Given the description of an element on the screen output the (x, y) to click on. 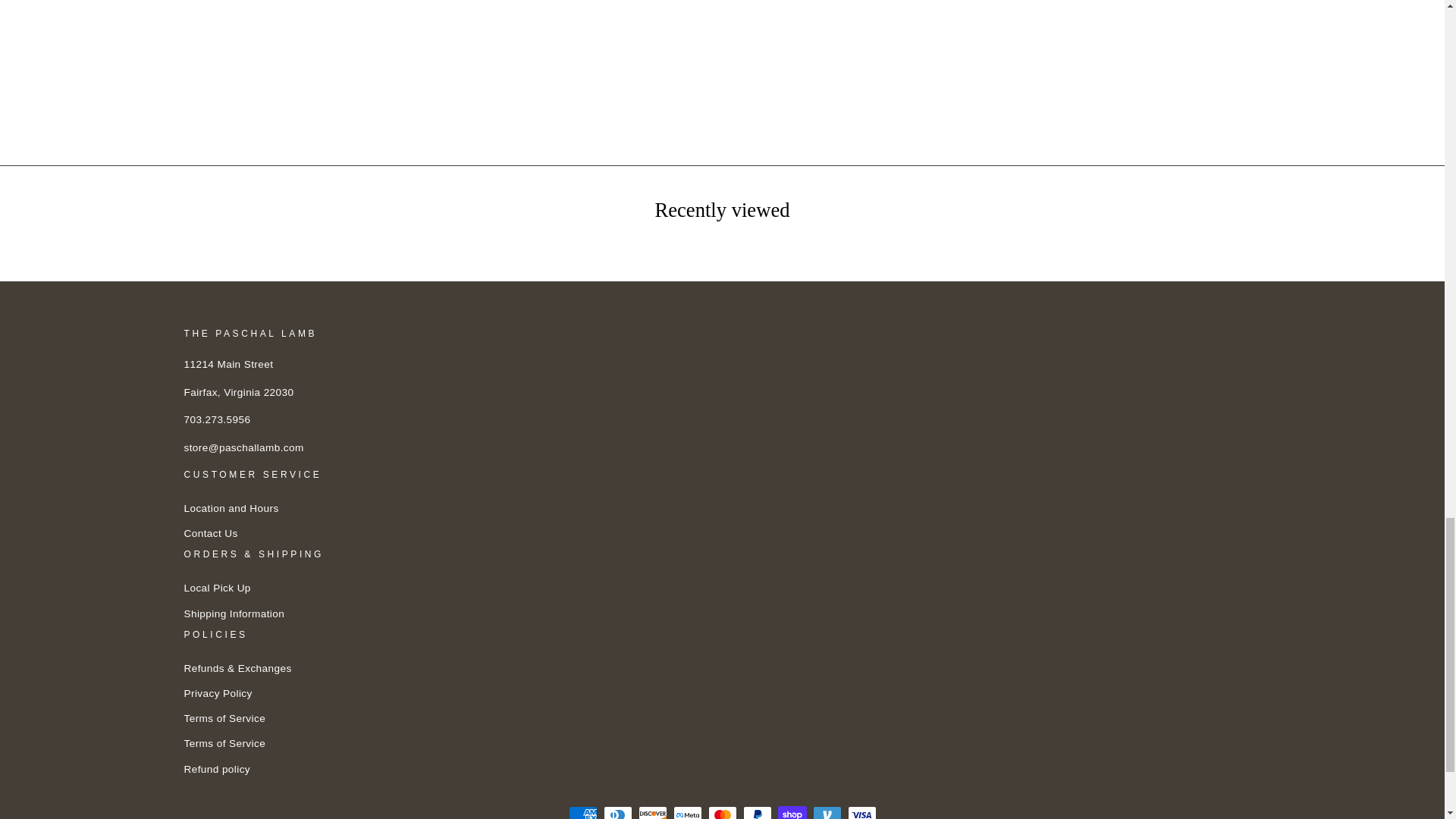
Shop Pay (791, 812)
Discover (652, 812)
PayPal (756, 812)
Diners Club (617, 812)
Meta Pay (686, 812)
Venmo (826, 812)
Visa (861, 812)
Location and Hours (230, 508)
Mastercard (721, 812)
American Express (582, 812)
Contact Us (210, 533)
